Given the description of an element on the screen output the (x, y) to click on. 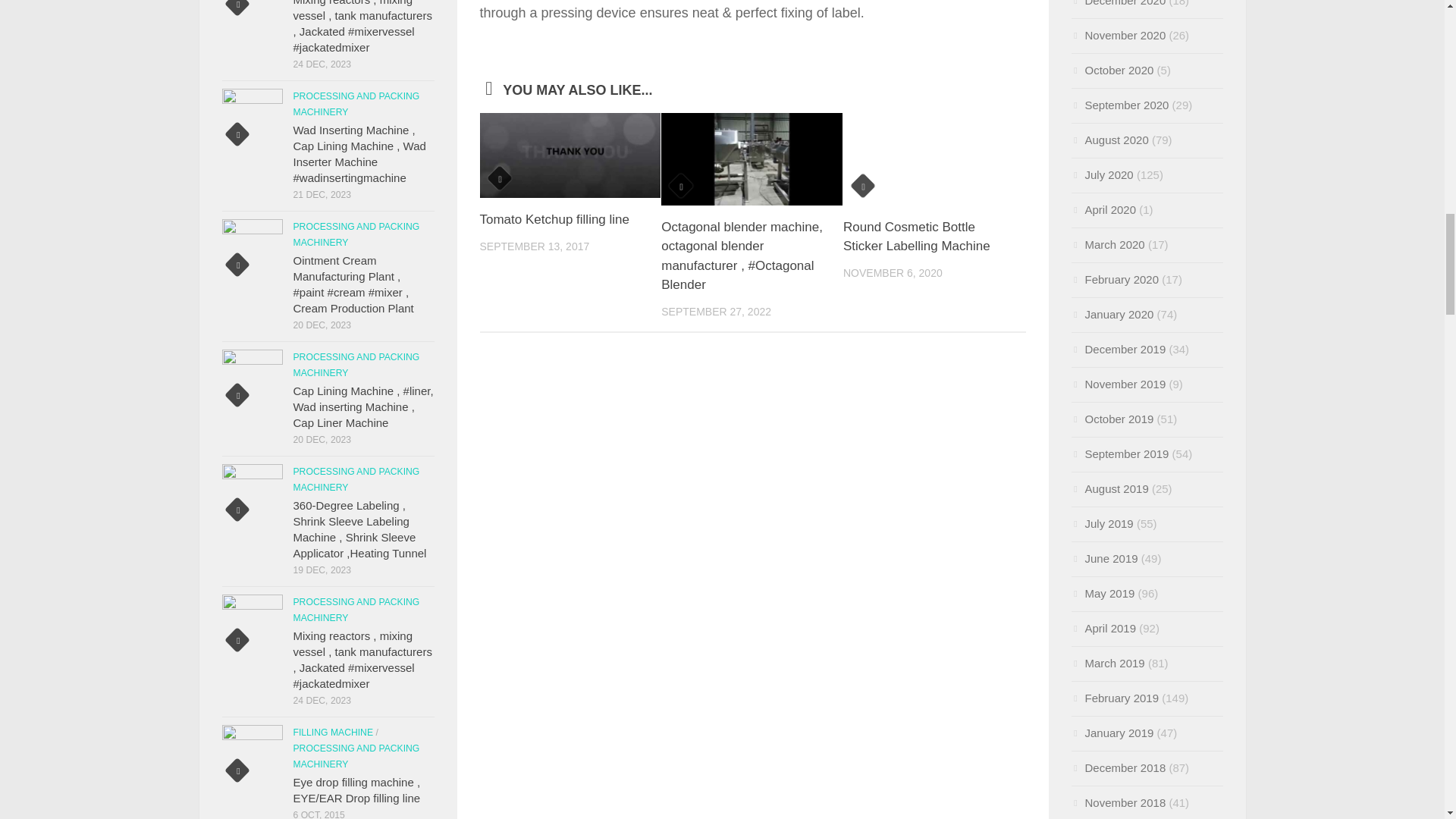
Permalink to Tomato Ketchup filling line (553, 219)
Permalink to Round Cosmetic Bottle Sticker Labelling Machine (916, 236)
